Given the description of an element on the screen output the (x, y) to click on. 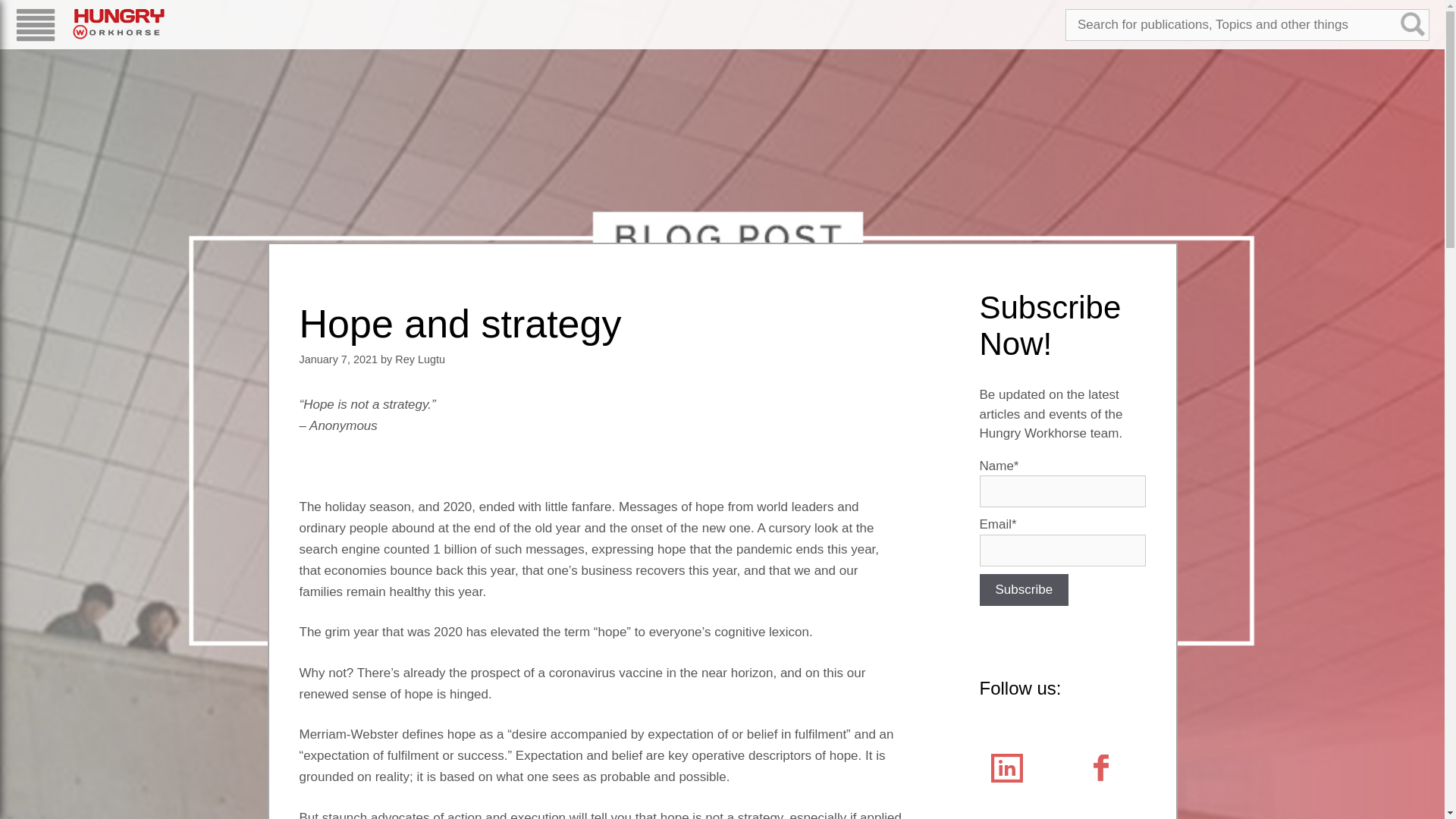
View all posts by Rey Lugtu (419, 358)
Rey Lugtu (419, 358)
Subscribe (1023, 590)
Subscribe (1023, 590)
